Given the description of an element on the screen output the (x, y) to click on. 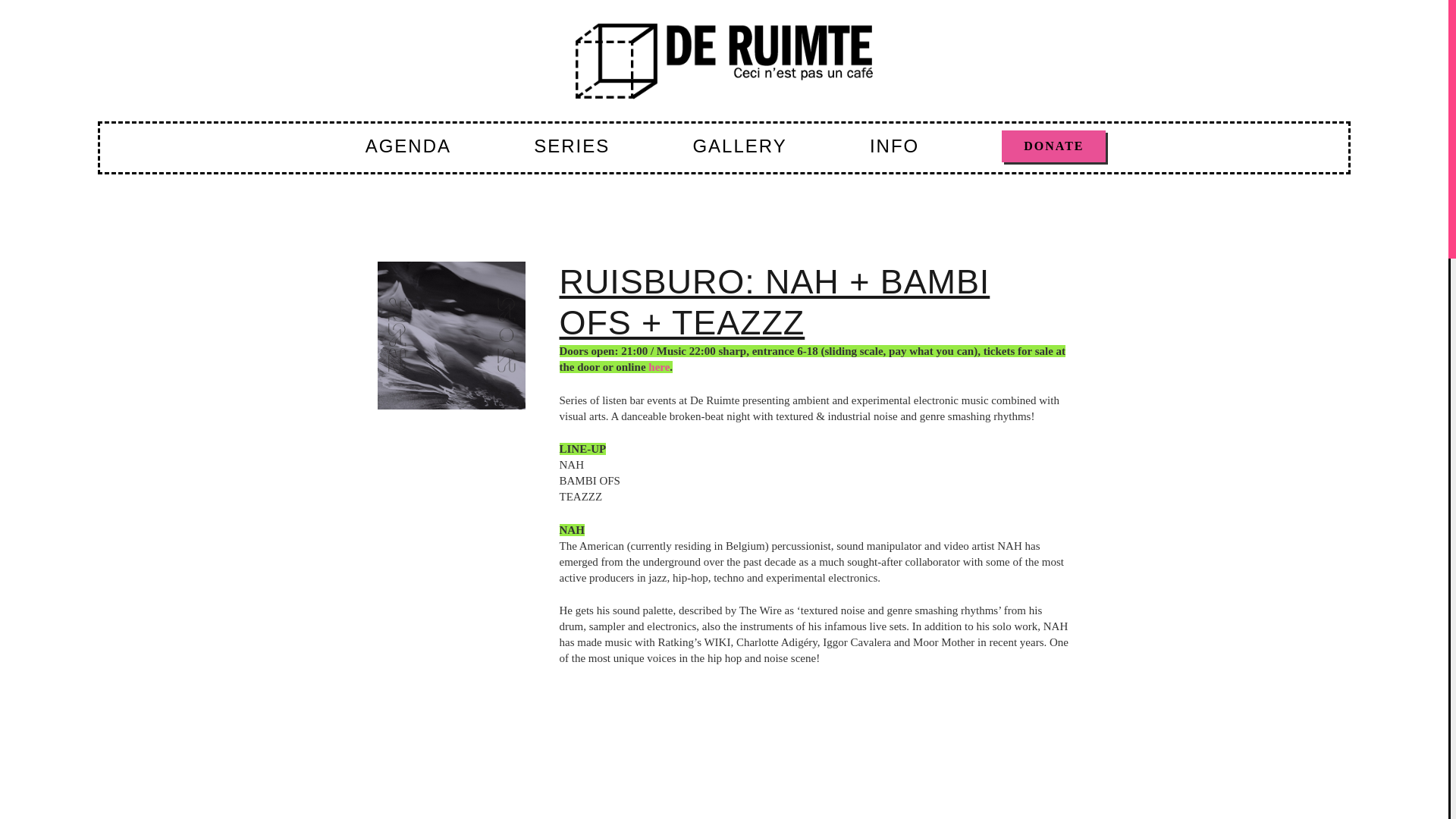
GALLERY (739, 145)
here (658, 367)
DONATE (1053, 146)
INFO (894, 145)
AGENDA (408, 145)
SERIES (571, 145)
